Given the description of an element on the screen output the (x, y) to click on. 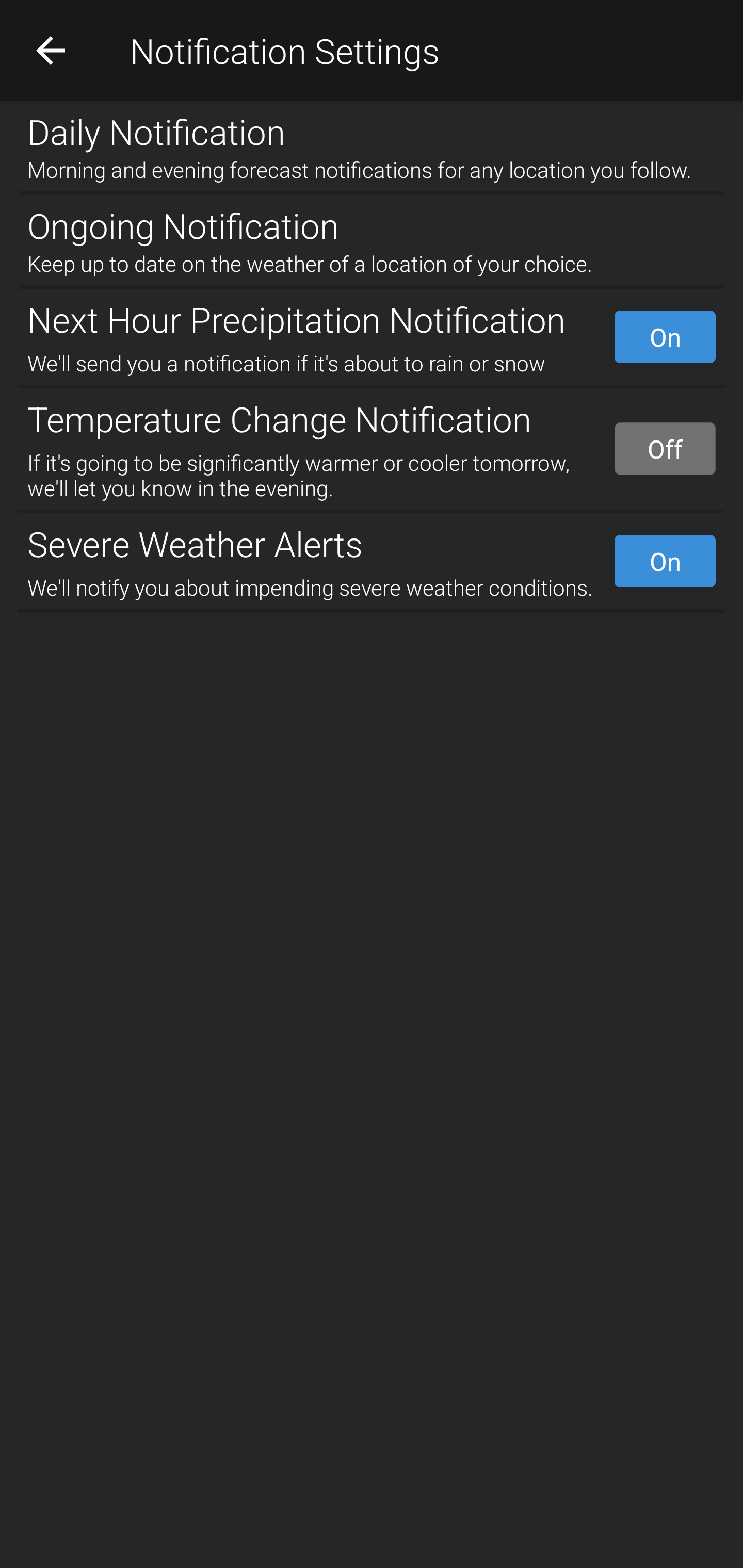
Navigate up (50, 50)
Daily Notification (371, 127)
Ongoing Notification (371, 221)
On (664, 336)
Off (664, 448)
On (664, 561)
